Given the description of an element on the screen output the (x, y) to click on. 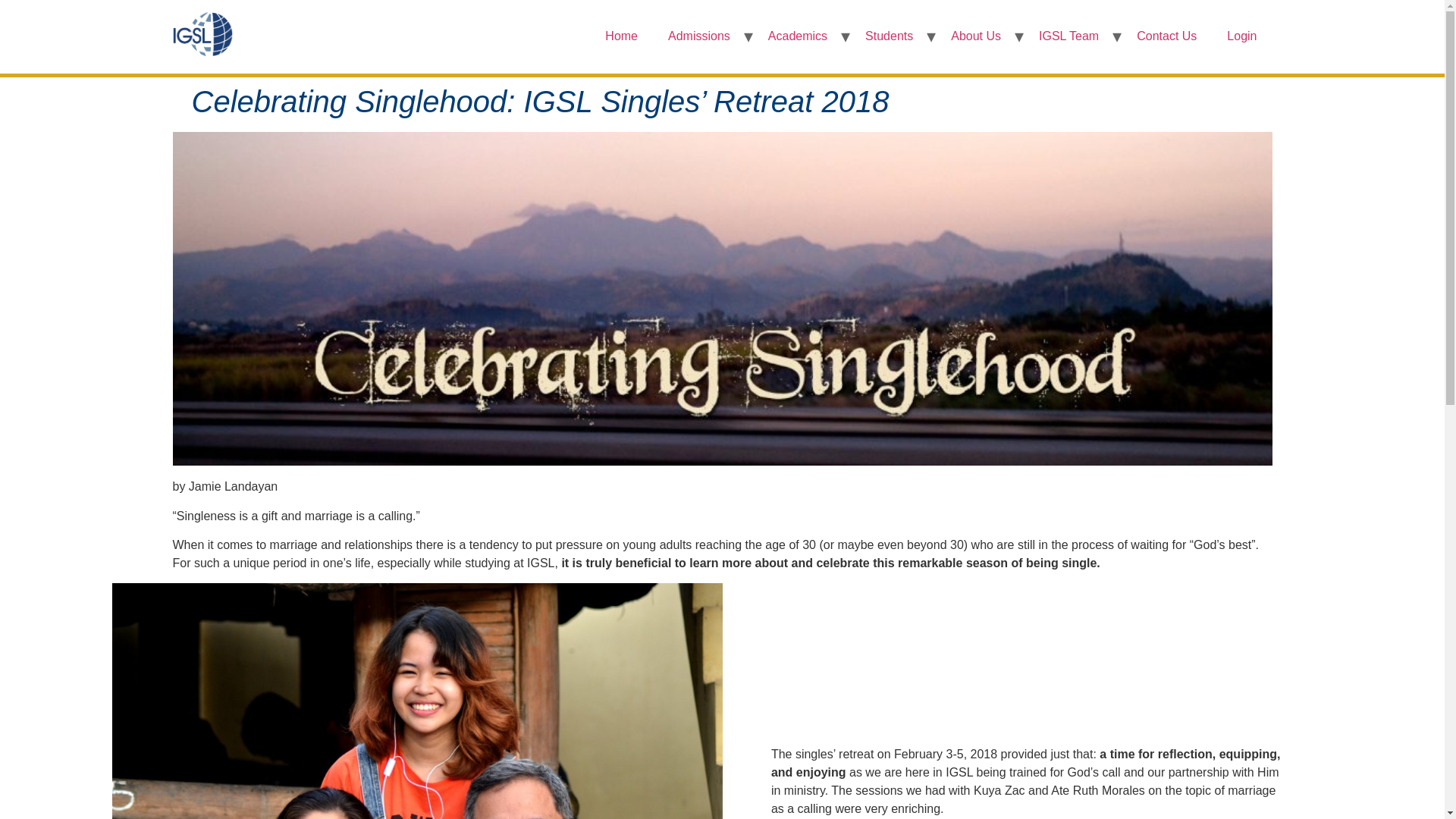
Academics (797, 36)
Home (621, 36)
Admissions (698, 36)
Contact Us (1166, 36)
About Us (975, 36)
Home (722, 97)
Application Forms (722, 97)
Login (1241, 36)
Students (888, 36)
IGSL Team (1068, 36)
